Given the description of an element on the screen output the (x, y) to click on. 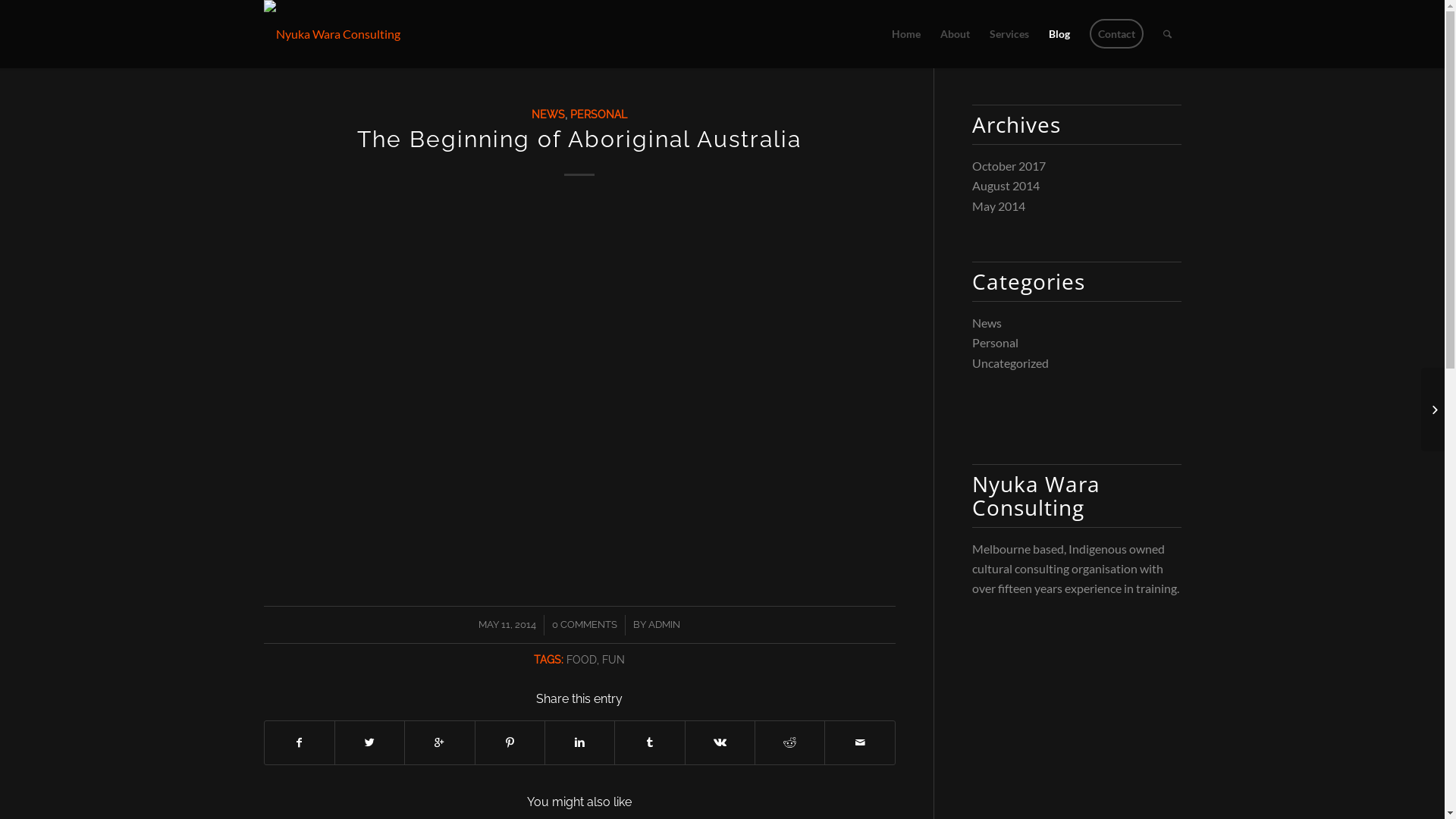
Contact Element type: text (1116, 34)
NEWS Element type: text (547, 113)
October 2017 Element type: text (1008, 165)
The Beginning of Aboriginal Australia Element type: text (579, 138)
Services Element type: text (1008, 34)
About Element type: text (954, 34)
May 2014 Element type: text (998, 205)
News Element type: text (986, 322)
PERSONAL Element type: text (598, 113)
Personal Element type: text (995, 342)
Blog Element type: text (1058, 34)
August 2014 Element type: text (1005, 185)
ADMIN Element type: text (664, 624)
Home Element type: text (905, 34)
0 COMMENTS Element type: text (584, 624)
FOOD Element type: text (581, 658)
FUN Element type: text (613, 658)
Uncategorized Element type: text (1010, 362)
